Given the description of an element on the screen output the (x, y) to click on. 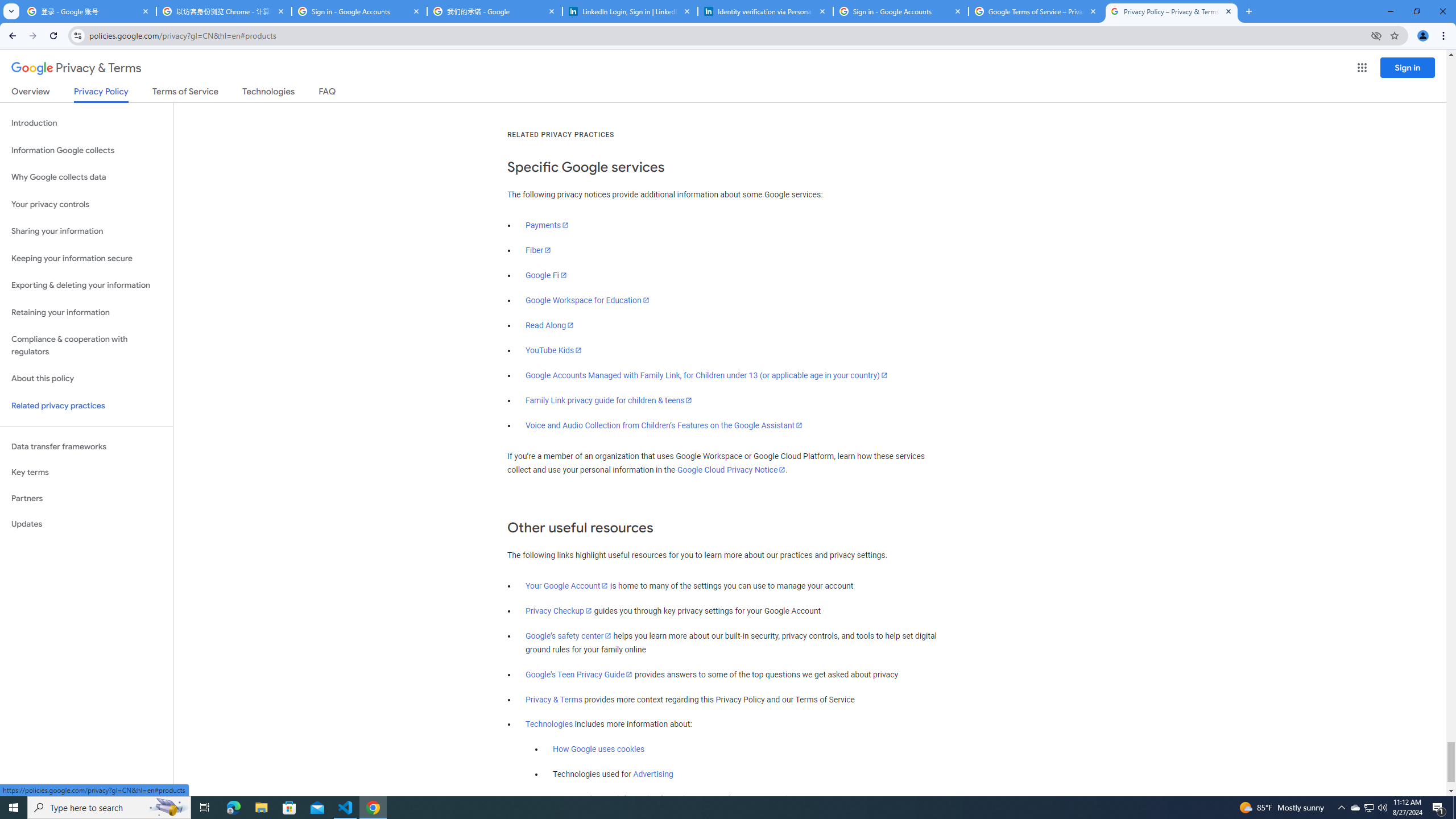
Family Link privacy guide for children & teens (609, 400)
Google Cloud Privacy Notice (731, 469)
Related privacy practices (86, 405)
Fiber (538, 249)
